Given the description of an element on the screen output the (x, y) to click on. 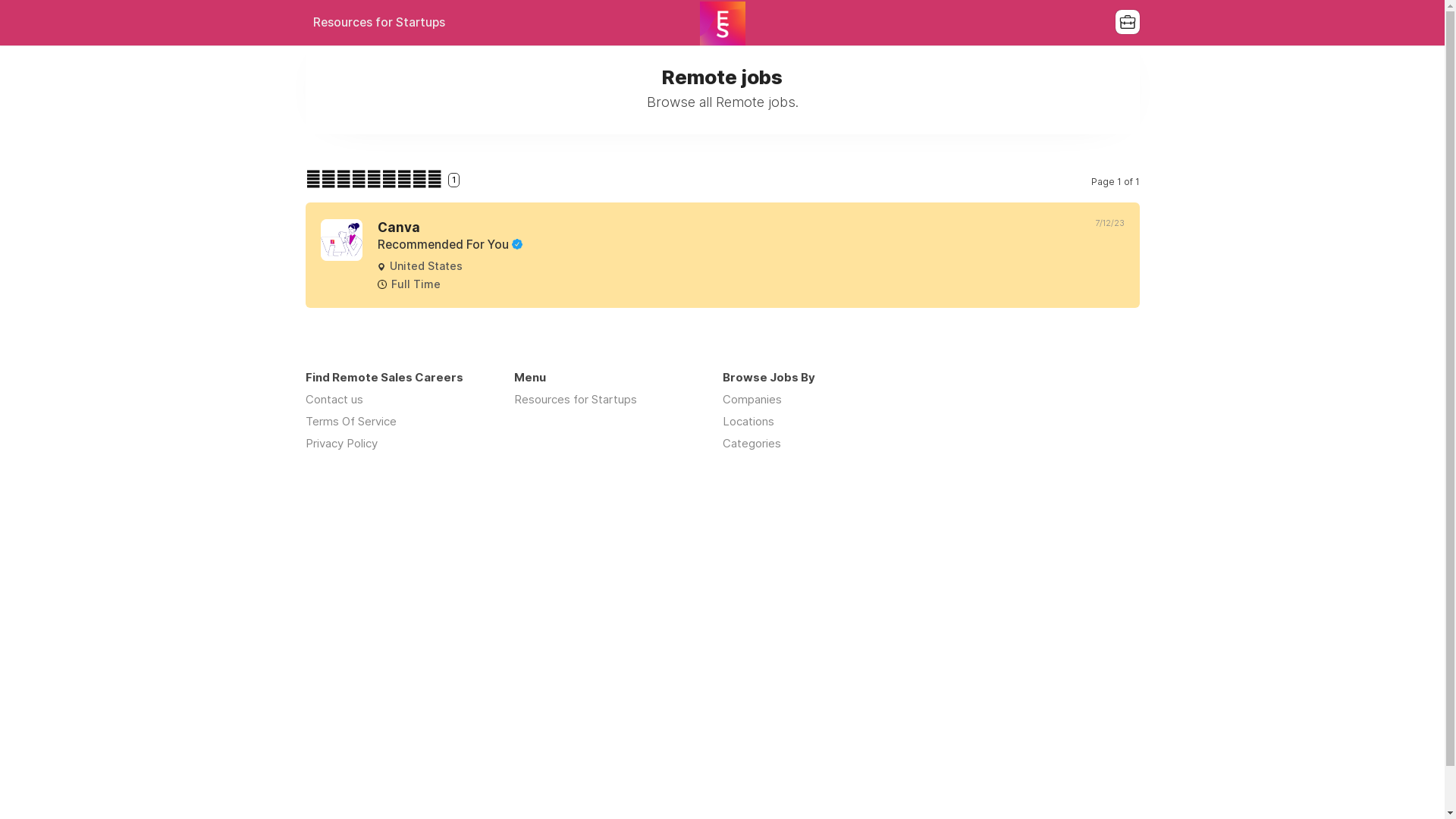
Canva
Recommended For You
United States
Full Time
7/12/23 Element type: text (721, 254)
Companies Element type: text (751, 399)
Contact us Element type: text (333, 399)
Resources for Startups Element type: text (575, 399)
Find Remote Sales Careers Element type: hover (721, 24)
Locations Element type: text (747, 421)
Privacy Policy Element type: text (340, 443)
Terms Of Service Element type: text (349, 421)
Categories Element type: text (750, 443)
Resources for Startups Element type: text (377, 22)
